Given the description of an element on the screen output the (x, y) to click on. 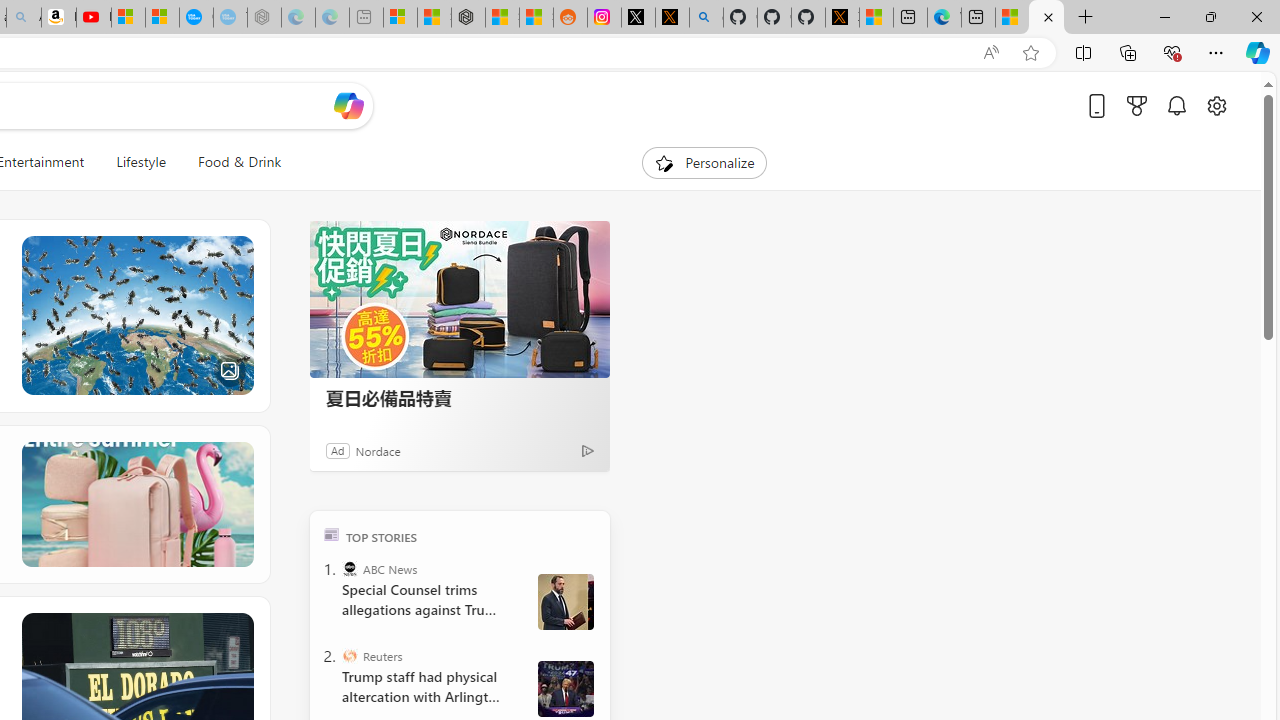
X Privacy Policy (841, 17)
Welcome to Microsoft Edge (944, 17)
Science - MSN (1046, 17)
